Given the description of an element on the screen output the (x, y) to click on. 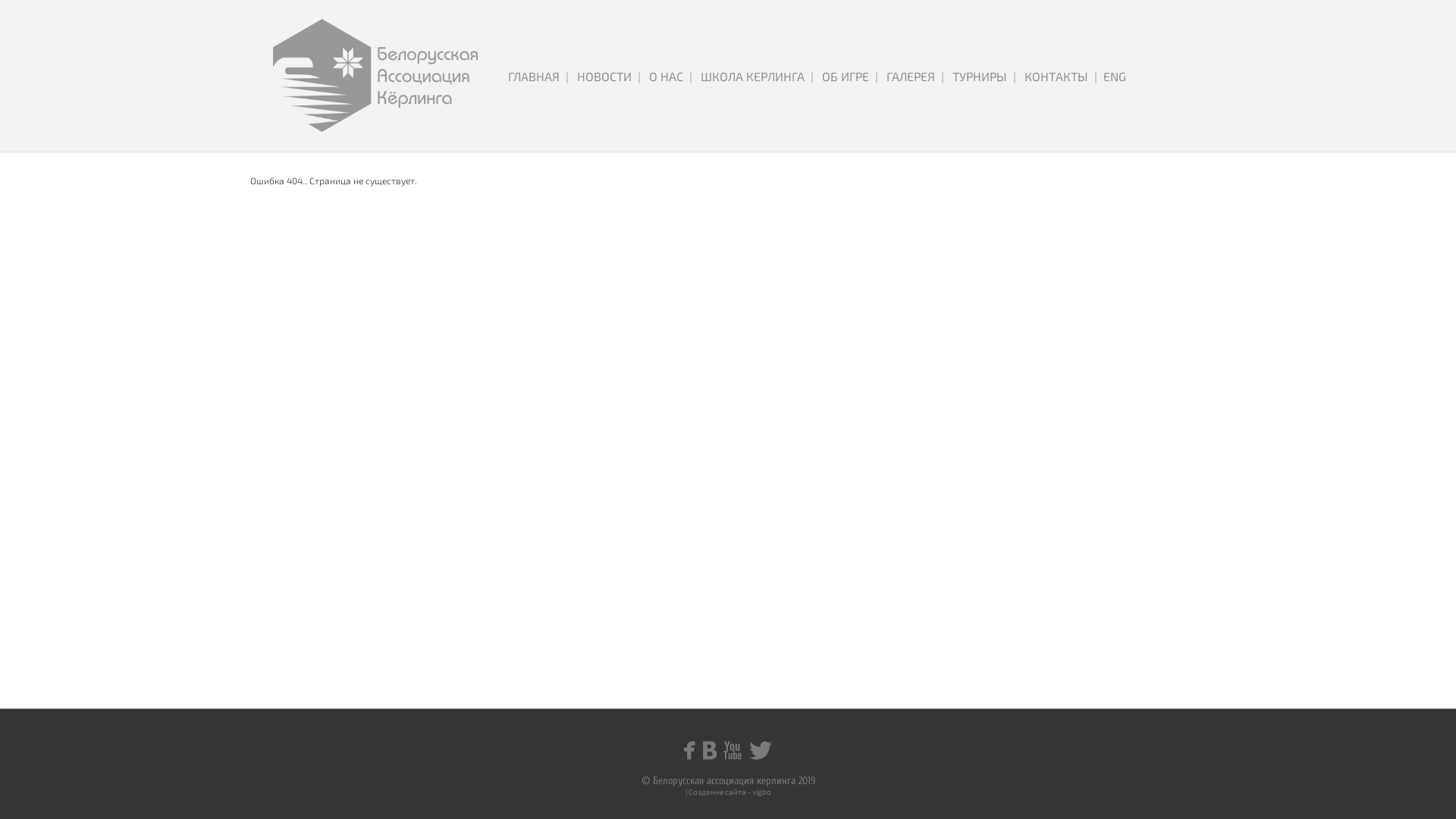
| Element type: text (638, 76)
ENG Element type: text (1114, 76)
| Element type: text (942, 76)
| Element type: text (566, 76)
| Element type: text (811, 76)
| Element type: text (690, 76)
| Element type: text (1014, 76)
| Element type: text (876, 76)
| Element type: text (1095, 76)
